Given the description of an element on the screen output the (x, y) to click on. 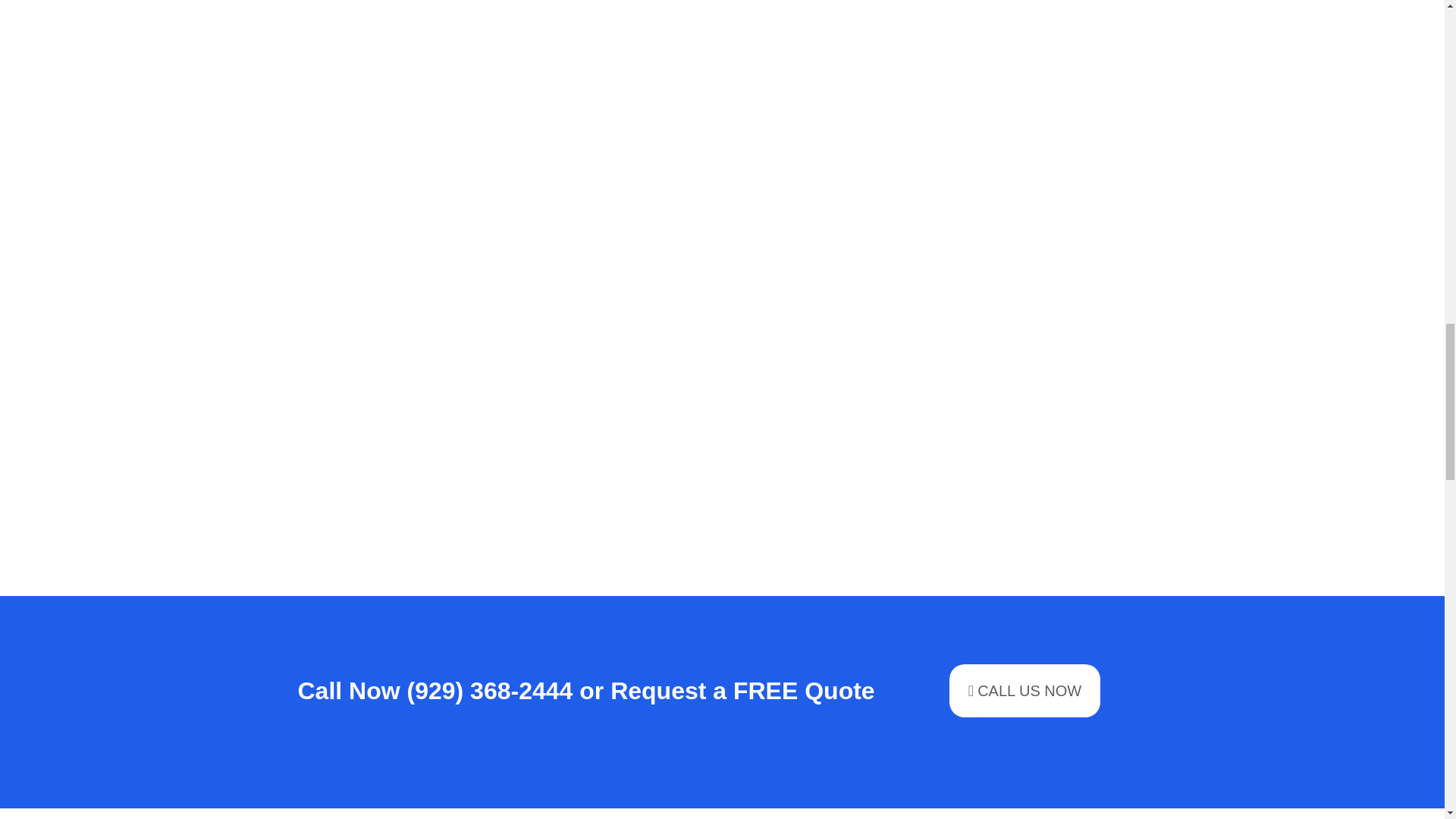
CALL US NOW (1024, 690)
